Given the description of an element on the screen output the (x, y) to click on. 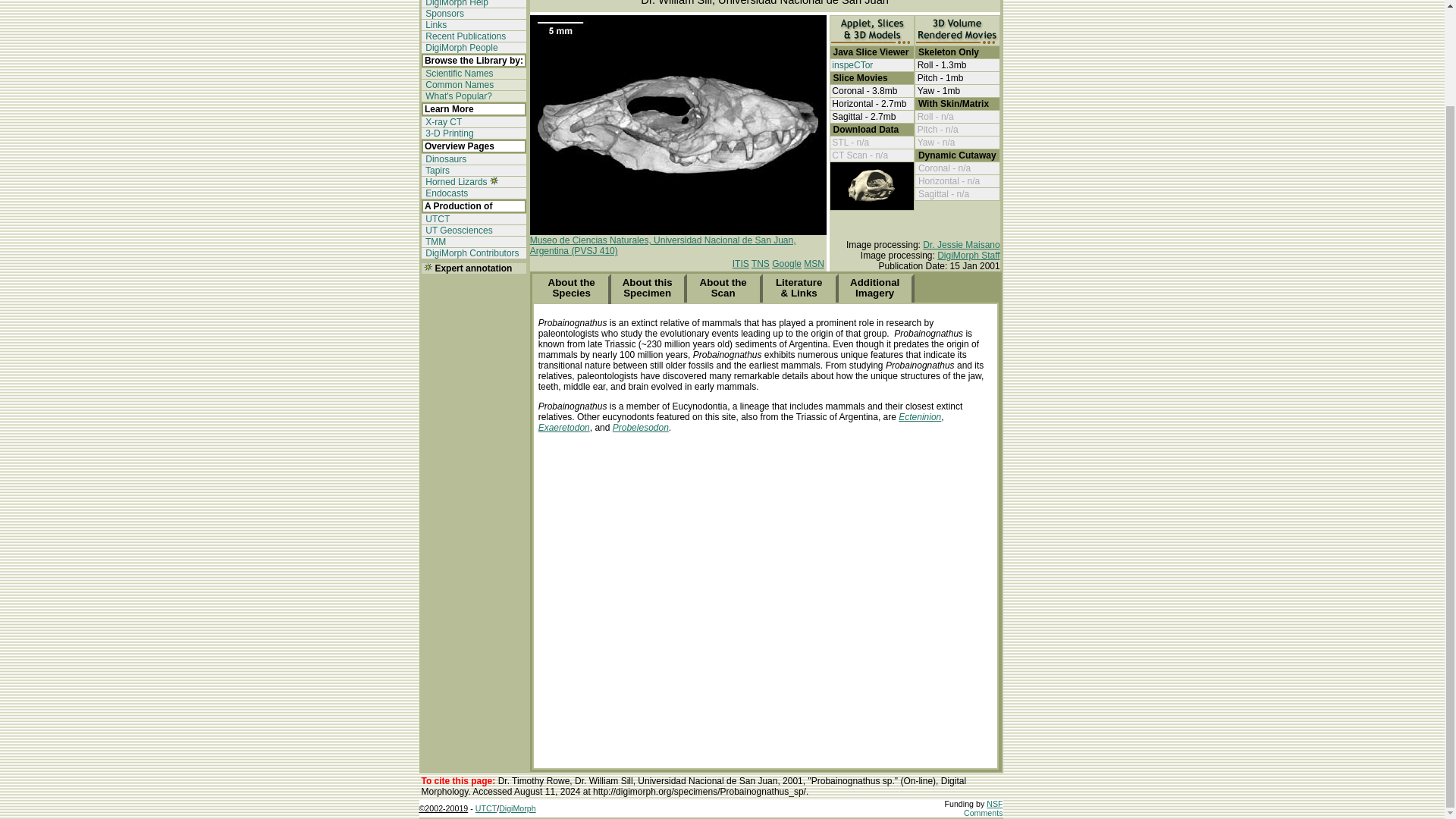
 X-ray CT (442, 122)
Coronal - 3.8mb (863, 90)
 Recent Publications (464, 36)
Roll - 1.3mb (941, 64)
Sagittal - 2.7mb (863, 116)
 DigiMorph People (460, 47)
 What's Popular? (457, 95)
 Endocasts (445, 193)
Yaw - 1mb (938, 90)
 3-D Printing (448, 132)
